Given the description of an element on the screen output the (x, y) to click on. 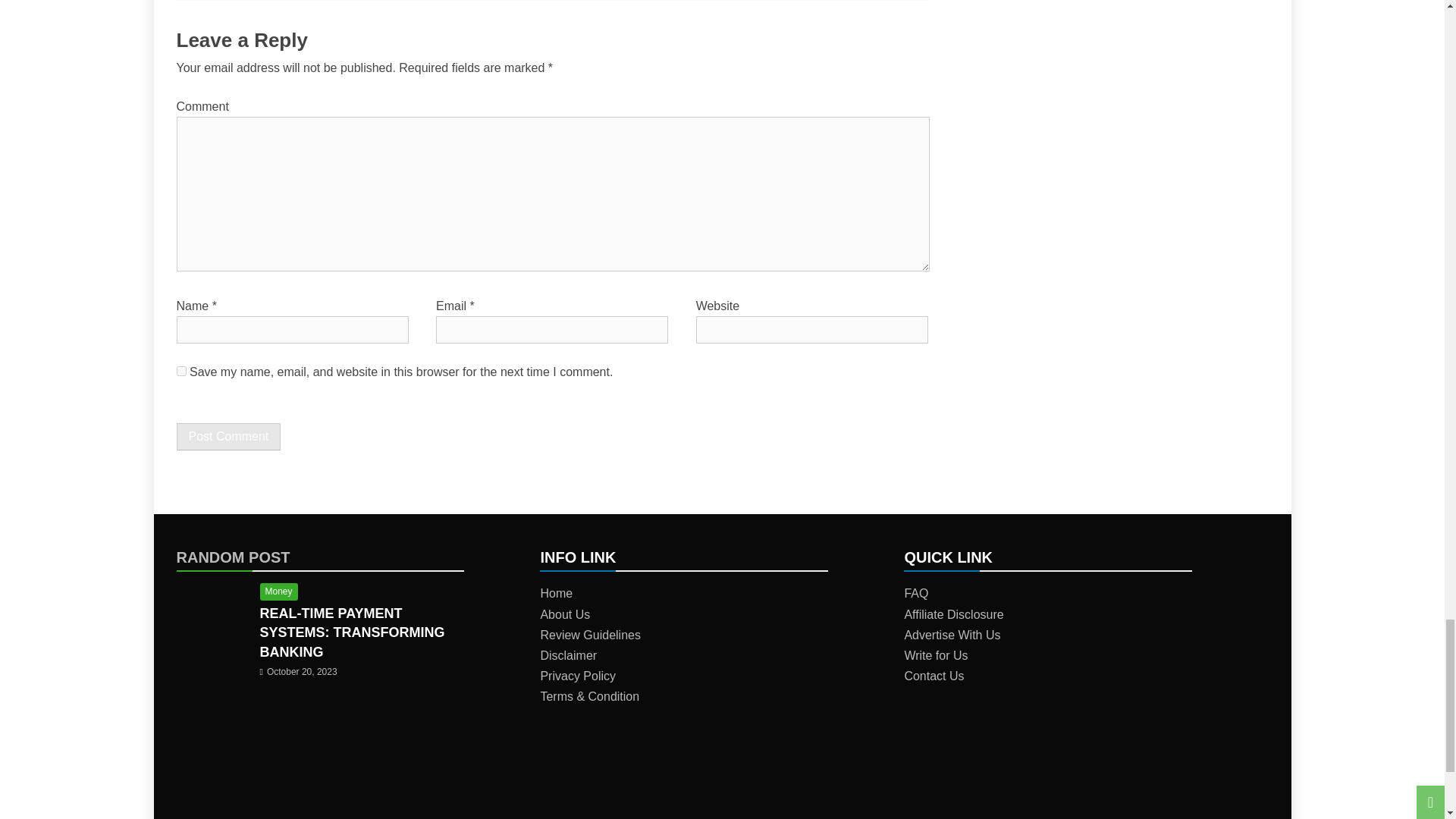
yes (181, 370)
Post Comment (228, 436)
